Given the description of an element on the screen output the (x, y) to click on. 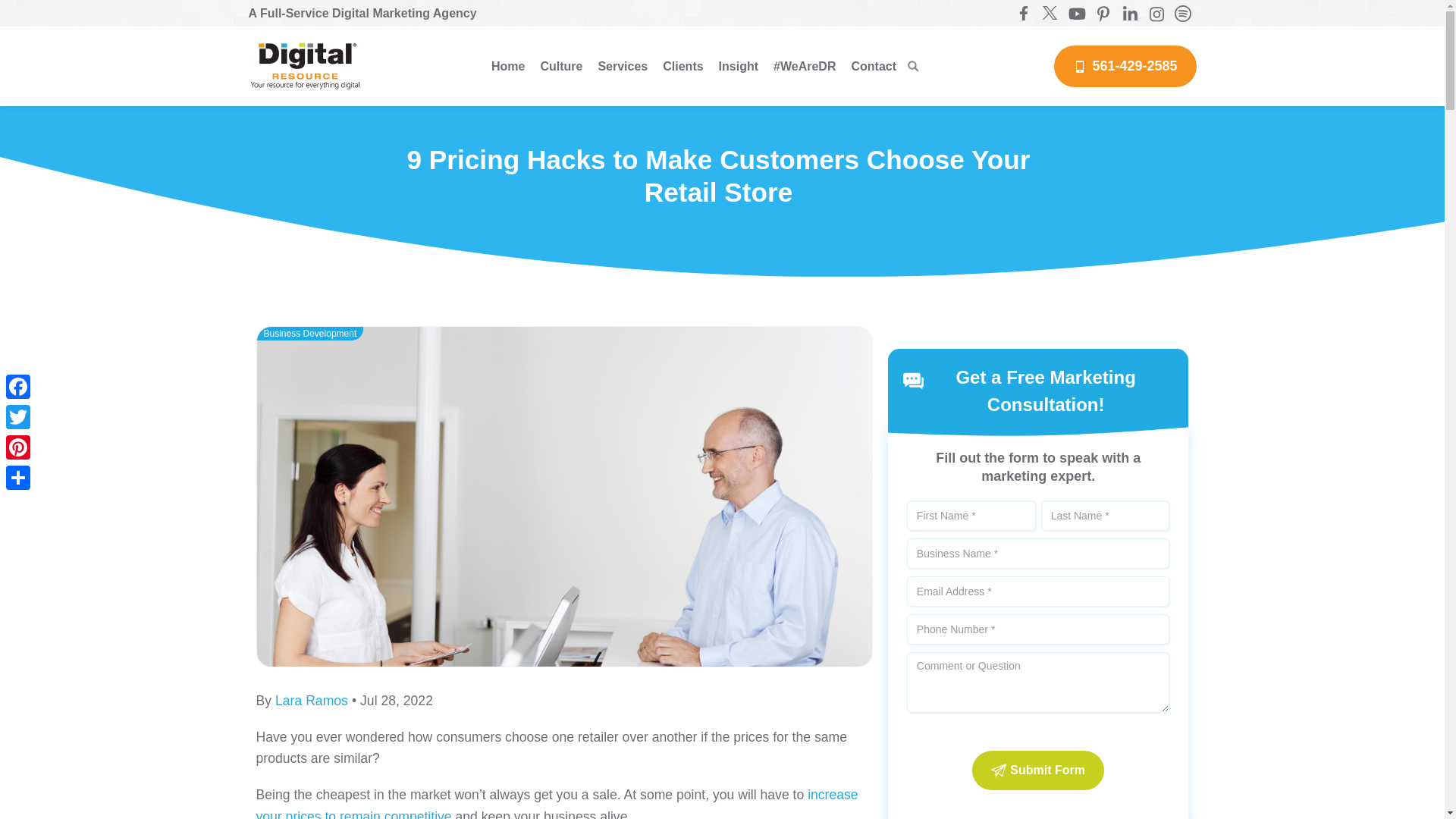
Home (507, 66)
Submit Form (1037, 770)
